Given the description of an element on the screen output the (x, y) to click on. 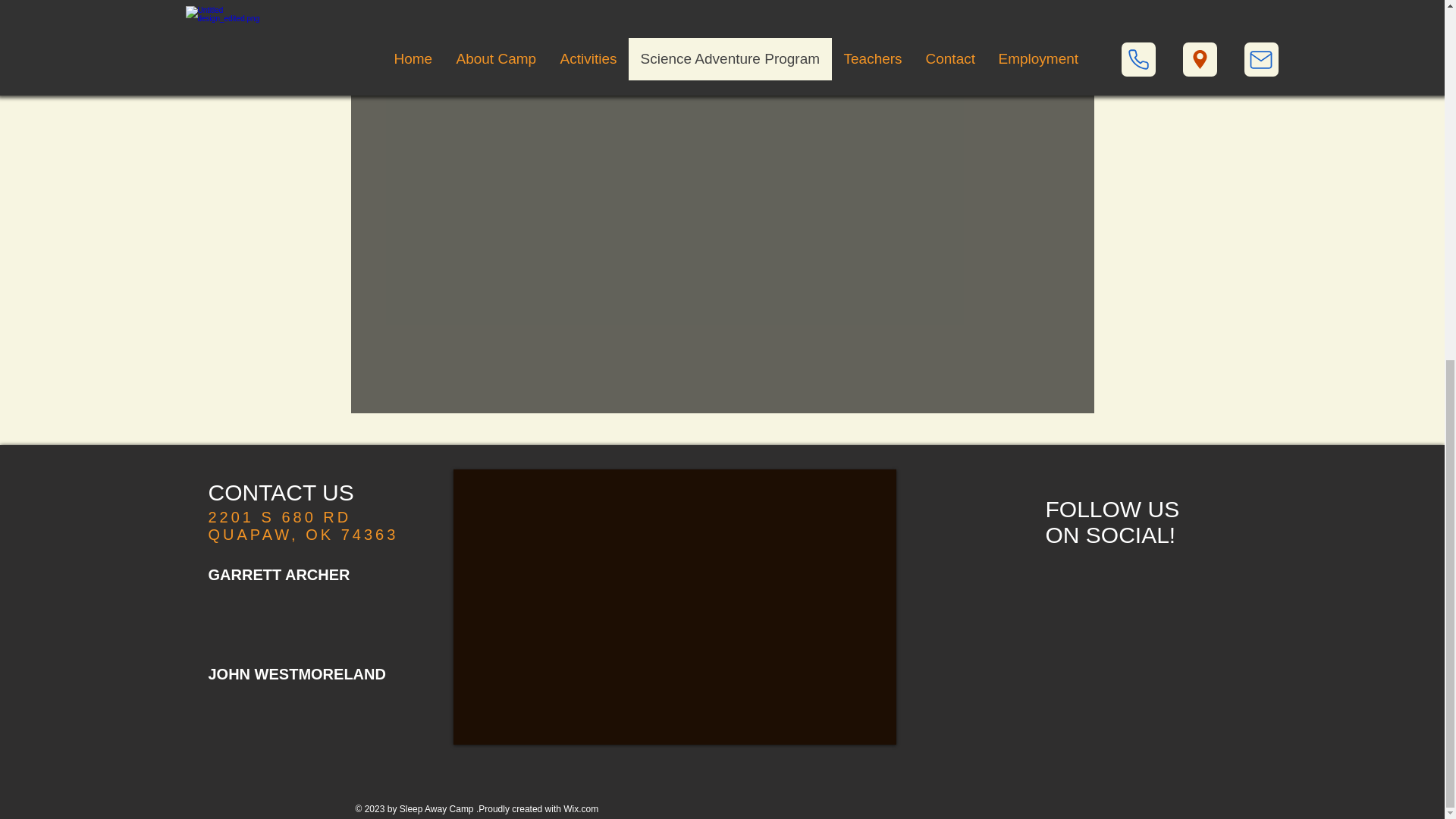
Wix.com (579, 808)
